Given the description of an element on the screen output the (x, y) to click on. 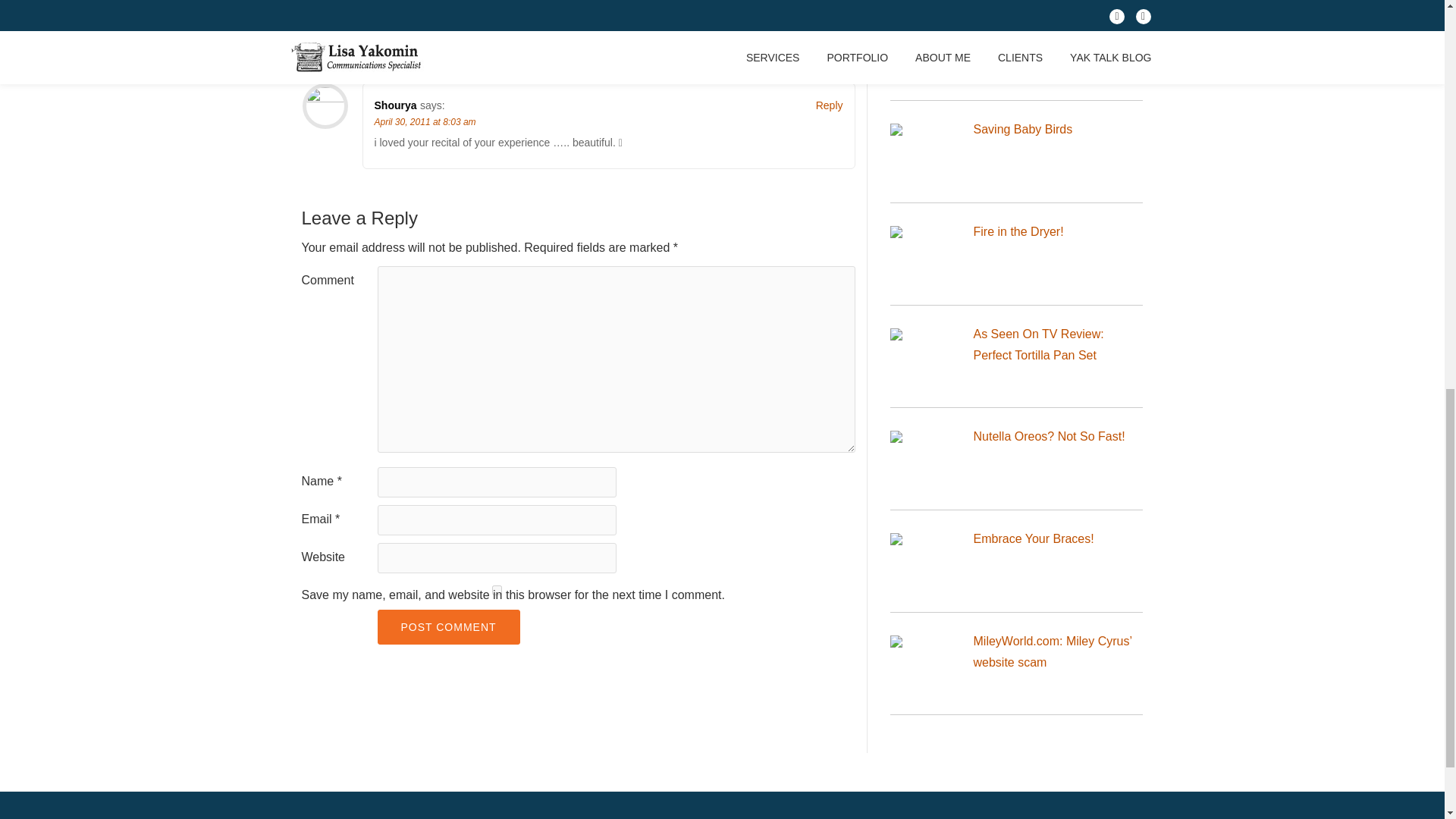
Shourya (395, 105)
Fire in the Dryer! (1019, 231)
Saving Baby Birds (1023, 128)
Shourya (395, 4)
Reply (829, 4)
Saturday, April 30, 2011, 8:03 am (425, 18)
Post Comment (448, 626)
Reply (829, 105)
April 30, 2011 at 8:03 am (425, 122)
April 30, 2011 at 8:03 am (425, 18)
